Given the description of an element on the screen output the (x, y) to click on. 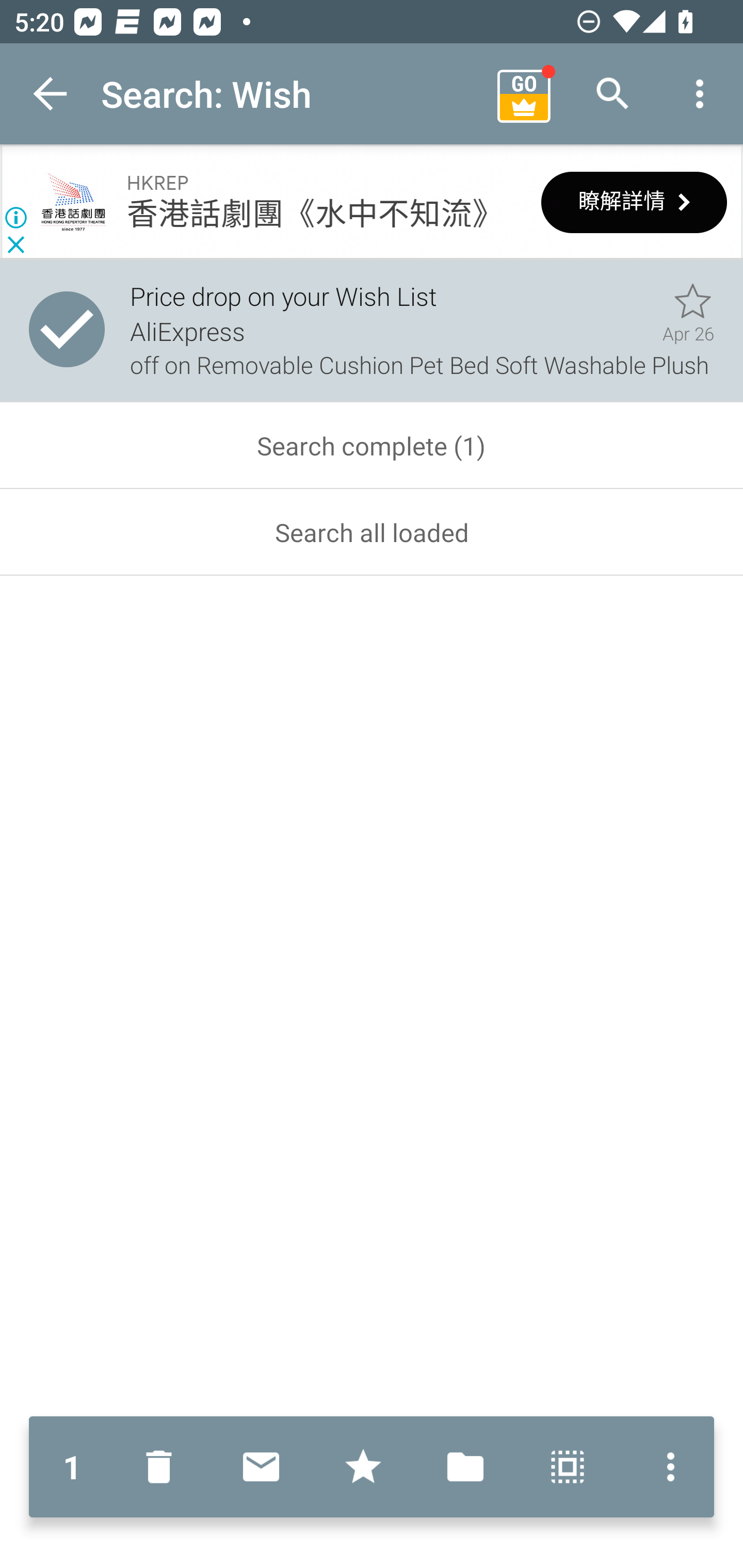
Navigate up (50, 93)
Search (612, 93)
More options (699, 93)
HKREP (73, 202)
HKREP (157, 182)
瞭解詳情 (634, 202)
香港話劇團《水中不知流》 (313, 214)
Search complete (1) (371, 445)
Search all loaded (371, 532)
1 1 message (71, 1466)
Move to Deleted (162, 1466)
Mark unread (261, 1466)
Mark with stars (363, 1466)
Move to folder… (465, 1466)
Select all (567, 1466)
More options (666, 1466)
